Given the description of an element on the screen output the (x, y) to click on. 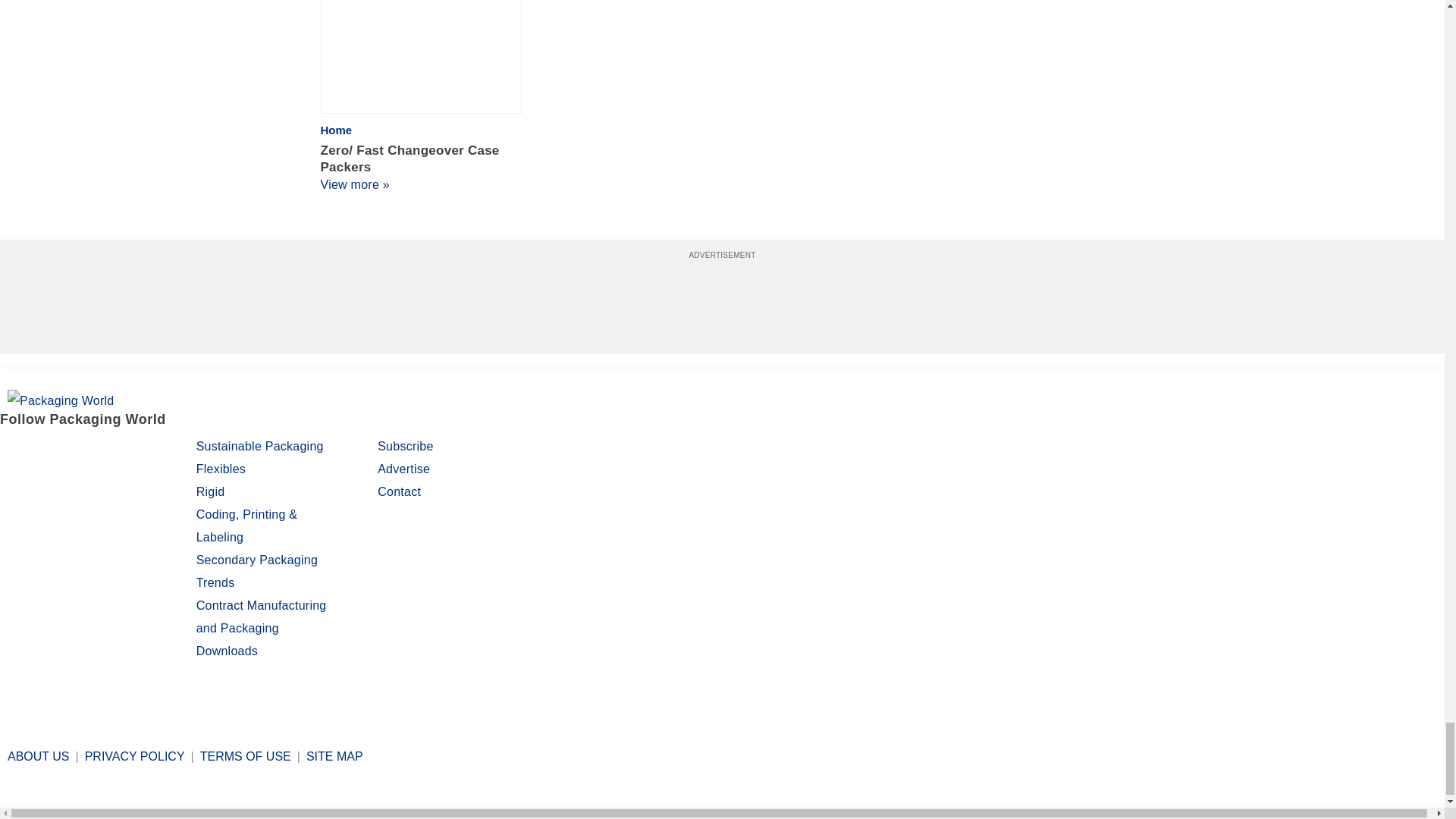
Facebook icon (13, 448)
YouTube icon (133, 448)
Twitter X icon (52, 448)
LinkedIn icon (94, 448)
